Given the description of an element on the screen output the (x, y) to click on. 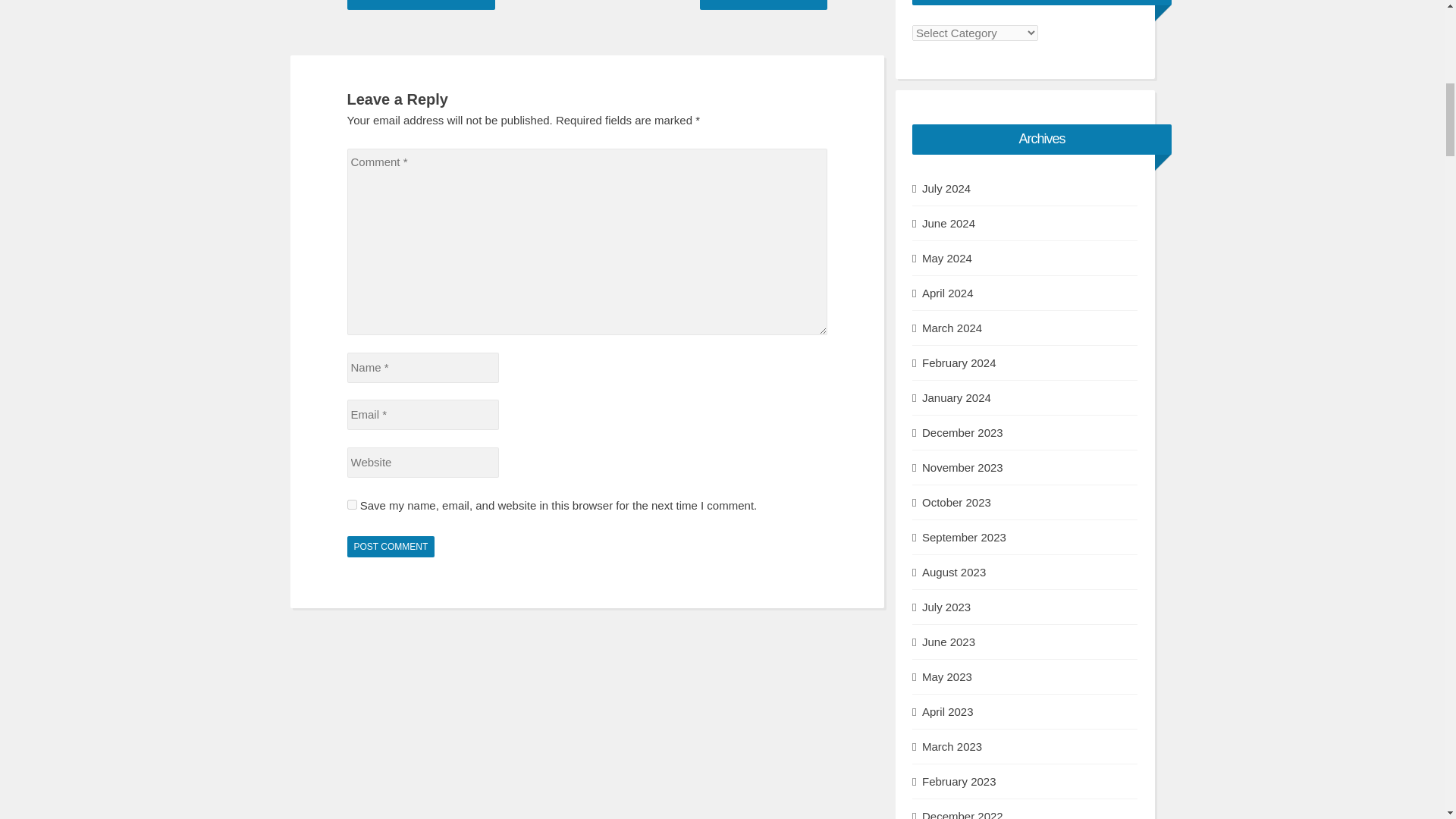
Post Comment (391, 546)
Post Comment (391, 546)
June 2024 (948, 223)
Like EEAAO (421, 4)
July 2024 (946, 188)
yes (351, 504)
May 2024 (946, 258)
